Given the description of an element on the screen output the (x, y) to click on. 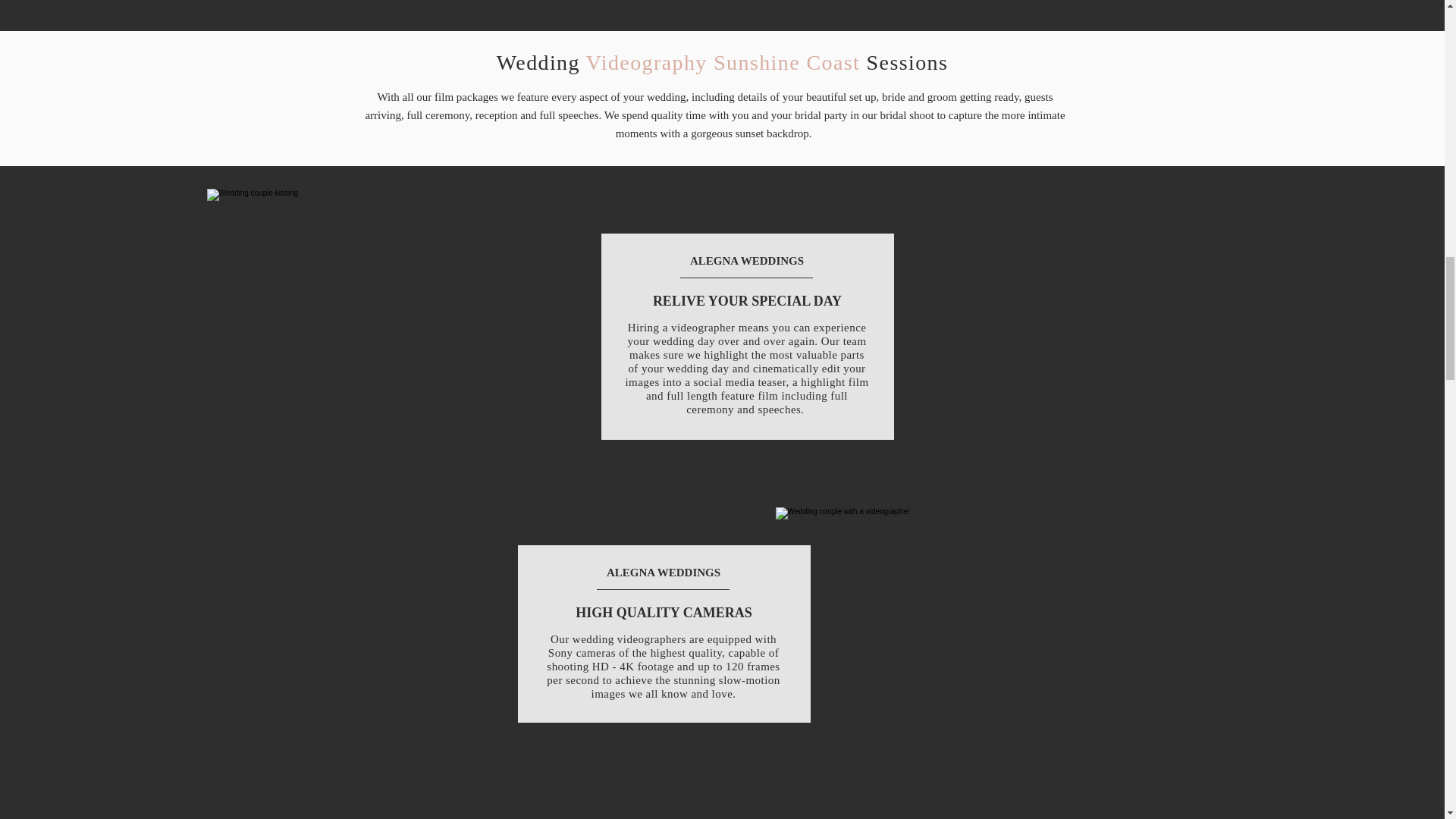
RELIVE YOUR SPECIAL DAY (746, 300)
ALEGNA WEDDINGS (746, 260)
